Given the description of an element on the screen output the (x, y) to click on. 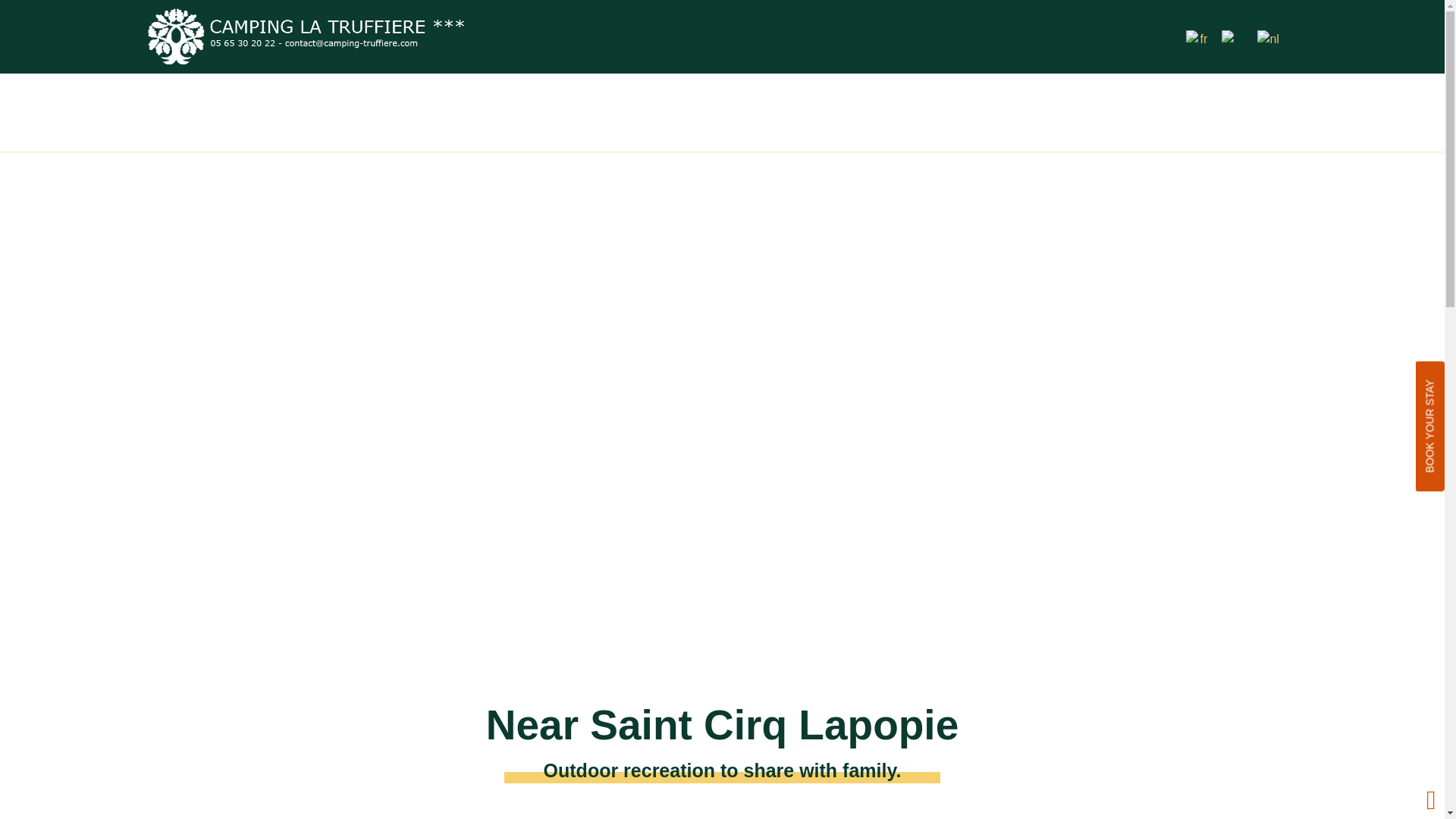
en (1232, 36)
nl (1268, 36)
fr (1197, 36)
